Given the description of an element on the screen output the (x, y) to click on. 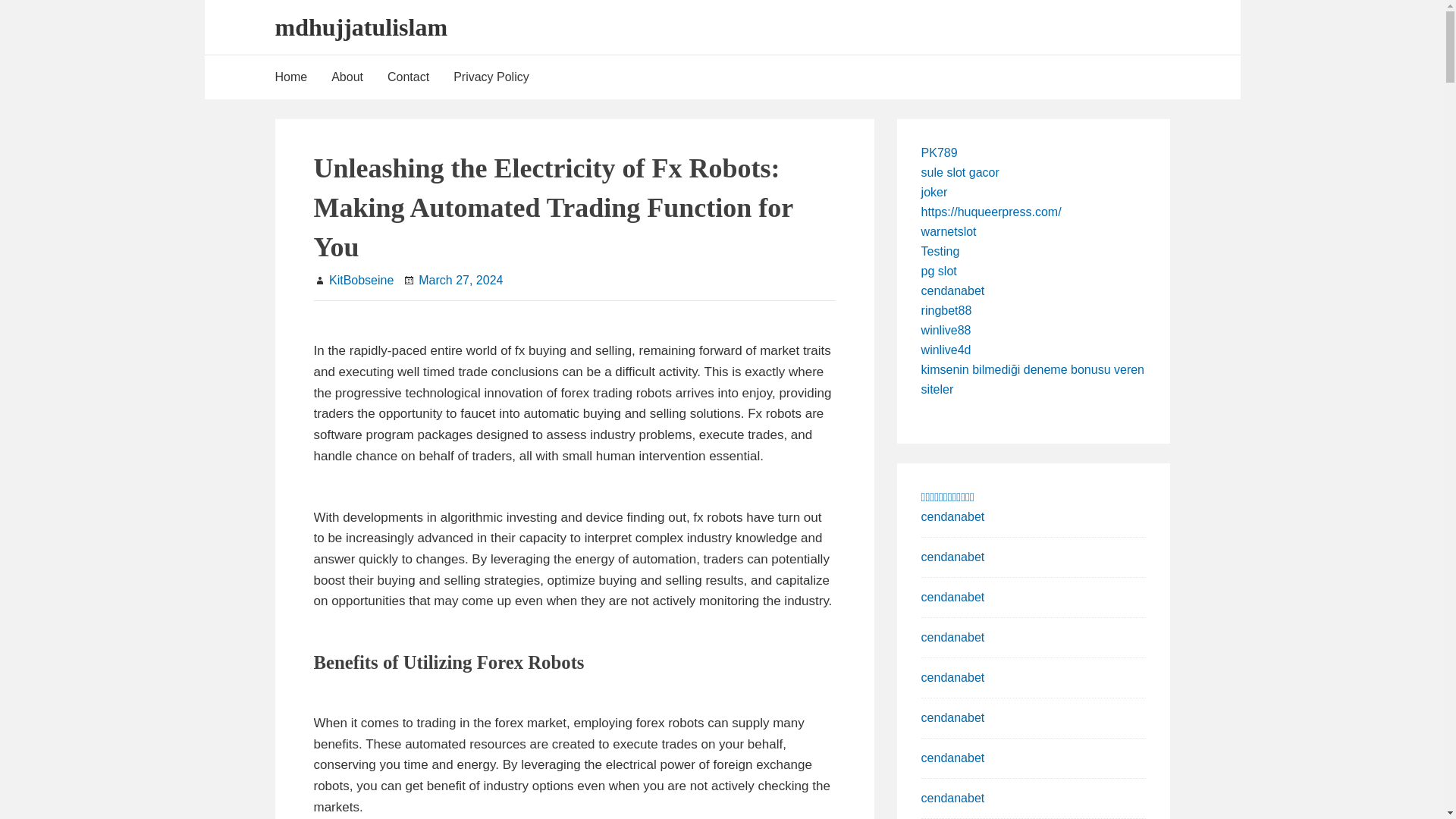
cendanabet (953, 717)
joker (934, 192)
cendanabet (953, 797)
PK789 (939, 152)
winlive88 (946, 329)
Home (296, 77)
ringbet88 (946, 309)
cendanabet (953, 757)
cendanabet (953, 636)
cendanabet (953, 556)
